Given the description of an element on the screen output the (x, y) to click on. 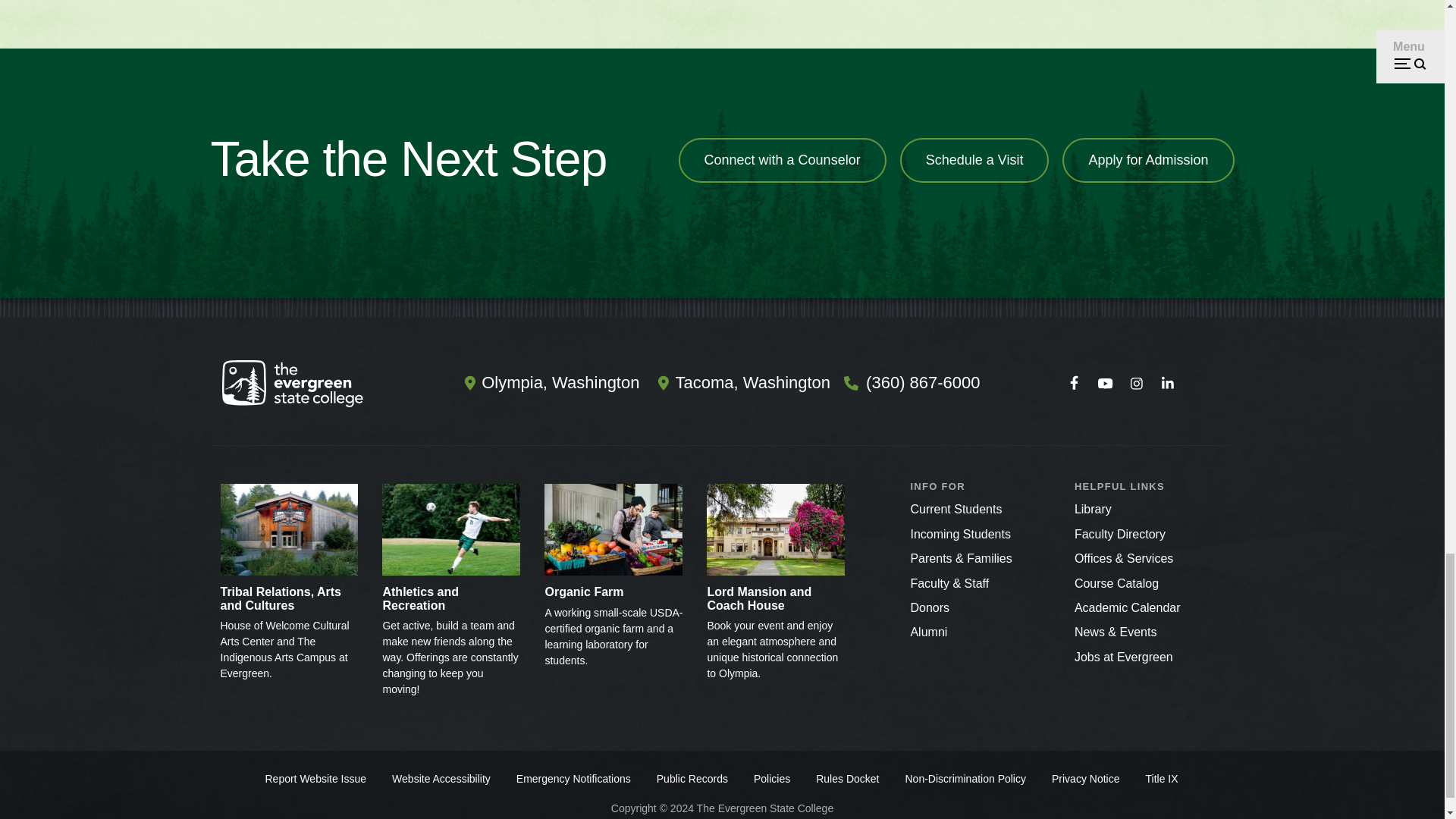
Follow us on Instagram (1136, 383)
Follow us on Facebook (1074, 383)
Connect with a Counselor (782, 160)
Schedule a Visit (974, 160)
Watch us on Youtube (1105, 383)
Make a Gift (929, 607)
Connect with us on LinkedIn (1167, 383)
